Given the description of an element on the screen output the (x, y) to click on. 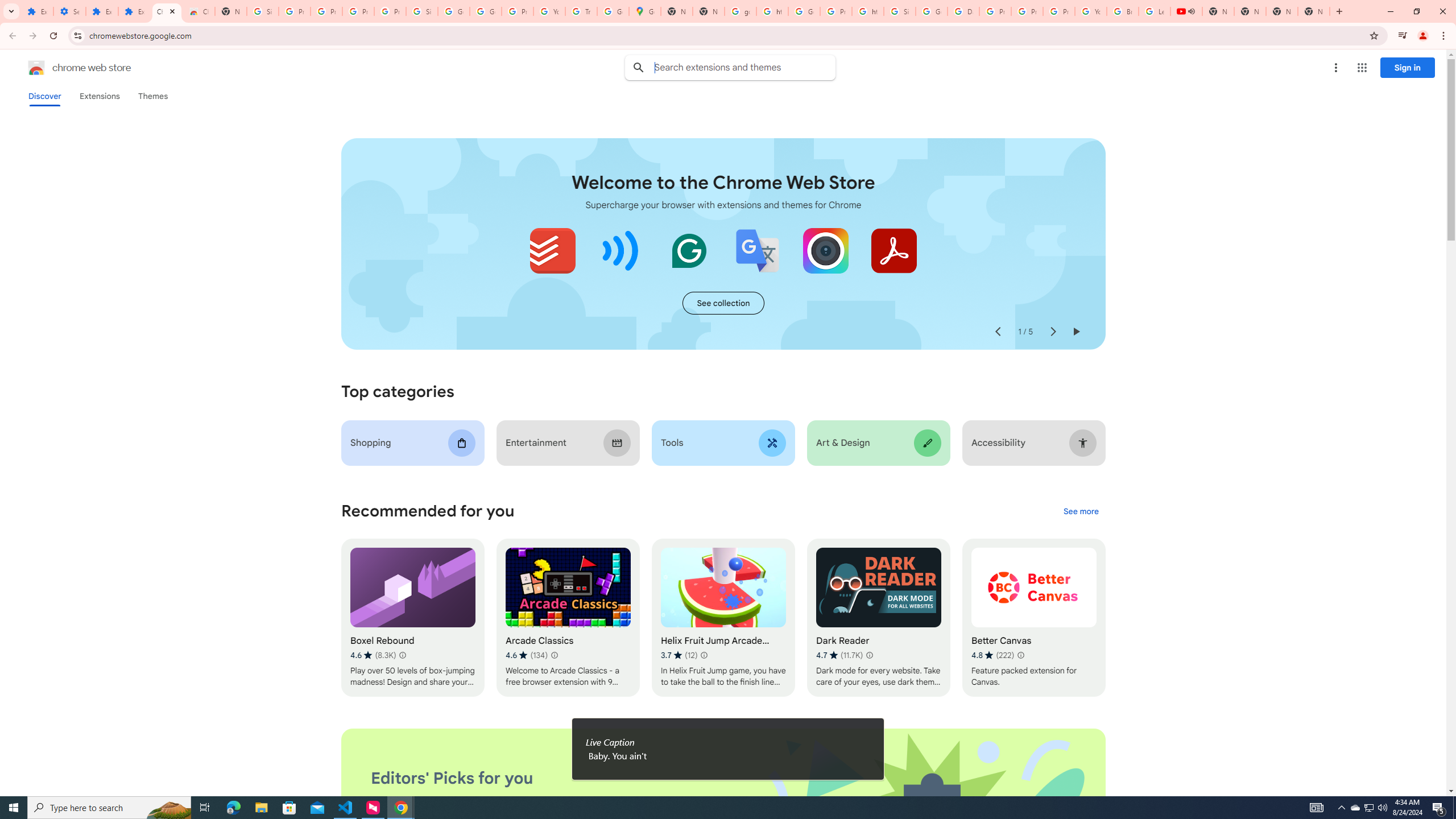
Volume Master (620, 250)
https://scholar.google.com/ (868, 11)
Better Canvas (1033, 617)
Awesome Screen Recorder & Screenshot (825, 250)
Average rating 3.7 out of 5 stars. 12 ratings. (679, 655)
Adobe Acrobat: PDF edit, convert, sign tools (893, 250)
